Given the description of an element on the screen output the (x, y) to click on. 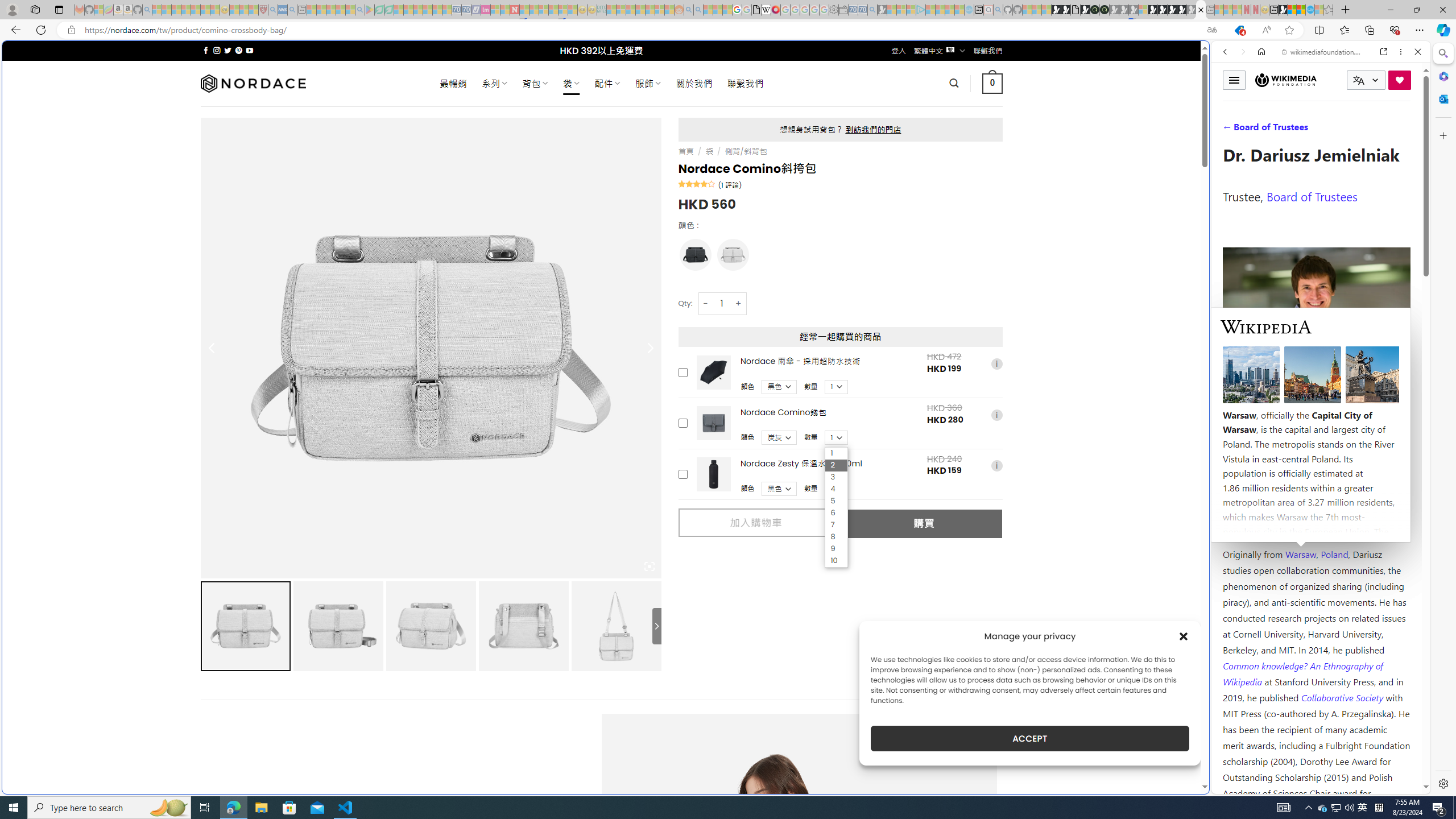
Future Focus Report 2024 (1103, 9)
4 (836, 489)
